Given the description of an element on the screen output the (x, y) to click on. 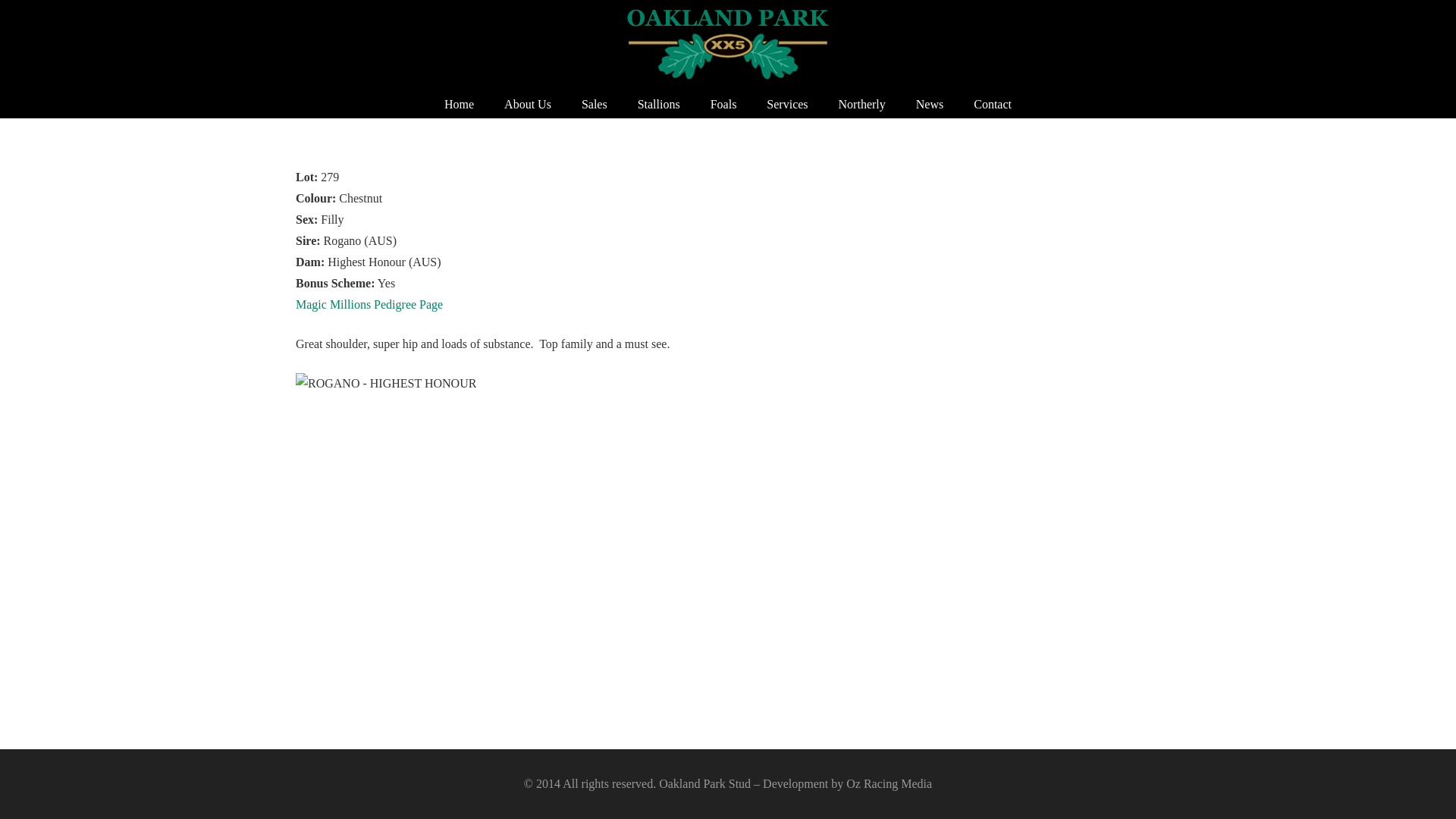
Sales Element type: text (594, 104)
Services Element type: text (786, 104)
Contact Element type: text (992, 104)
Home Element type: text (459, 104)
About Us Element type: text (527, 104)
Stallions Element type: text (658, 104)
Northerly Element type: text (861, 104)
News Element type: text (929, 104)
Magic Millions Pedigree Page Element type: text (368, 304)
Foals Element type: text (723, 104)
